Given the description of an element on the screen output the (x, y) to click on. 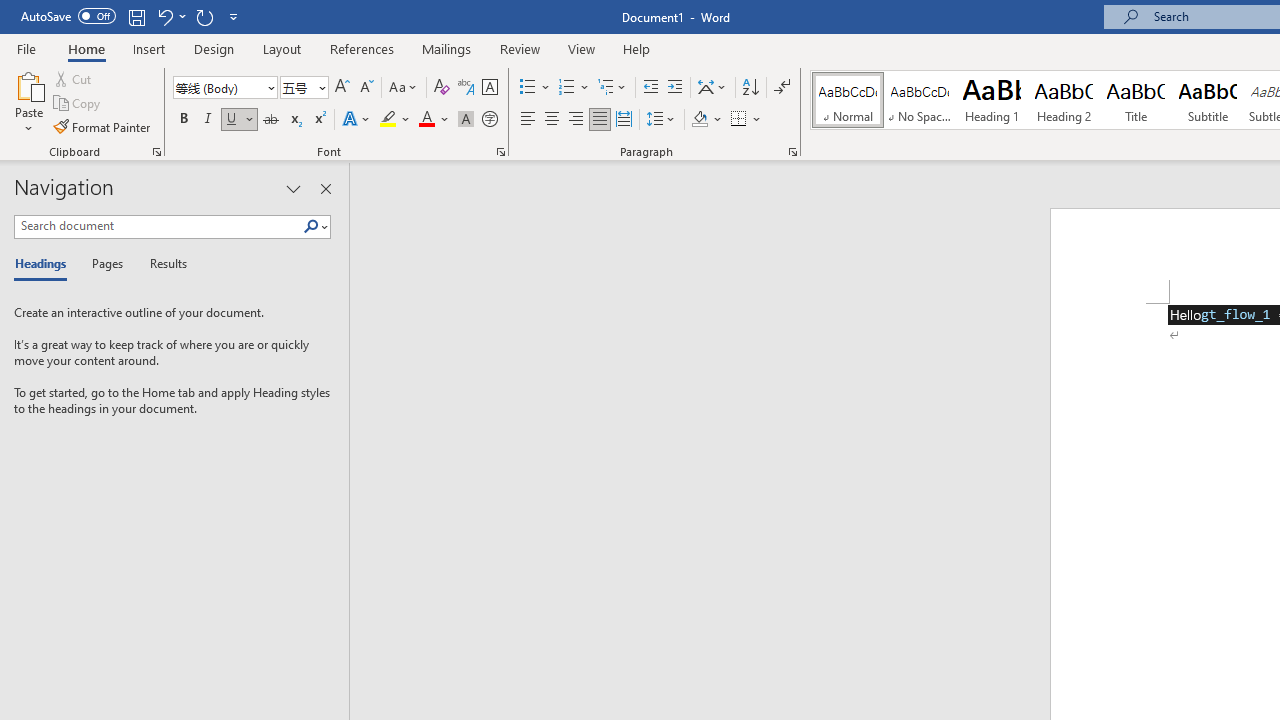
Align Left (527, 119)
Shading RGB(0, 0, 0) (699, 119)
Font... (500, 151)
Decrease Indent (650, 87)
Show/Hide Editing Marks (781, 87)
Bold (183, 119)
Change Case (404, 87)
Headings (45, 264)
Results (161, 264)
